Given the description of an element on the screen output the (x, y) to click on. 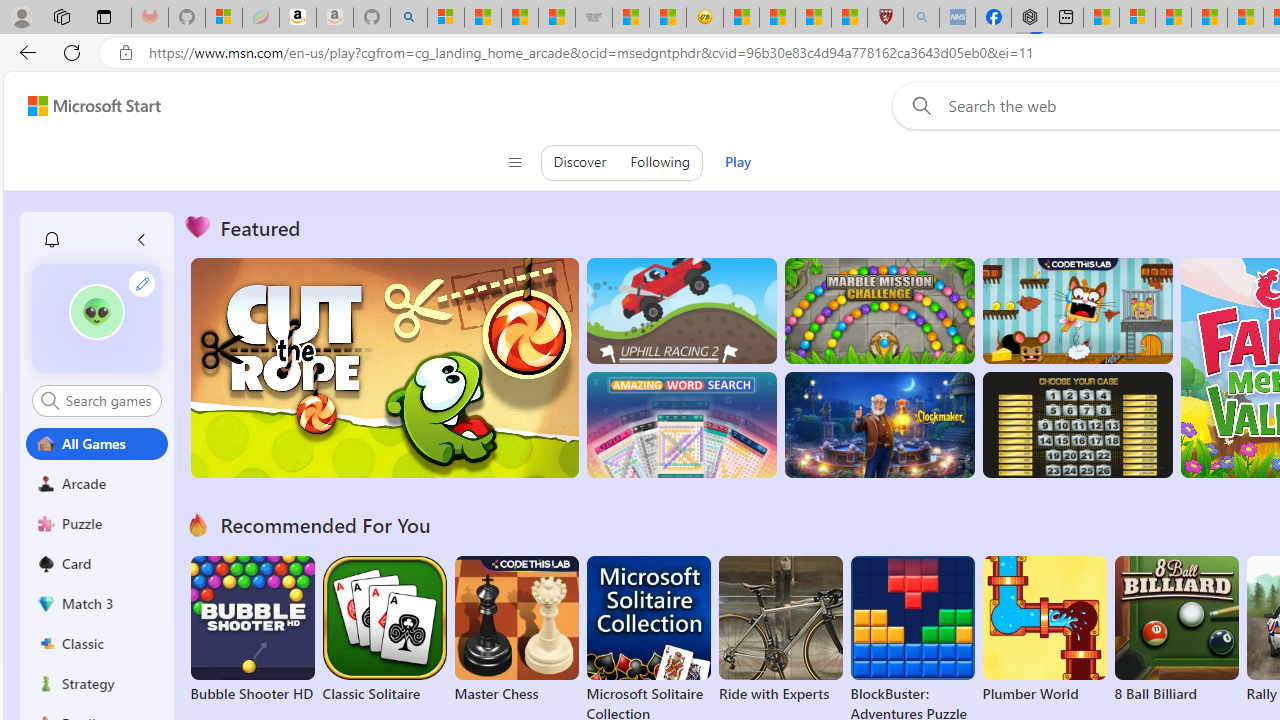
Amazing Word Search (681, 425)
Classic Solitaire (384, 629)
Class: profile-edit (142, 283)
Squicky (1076, 310)
Fitness - MSN (1245, 17)
